Given the description of an element on the screen output the (x, y) to click on. 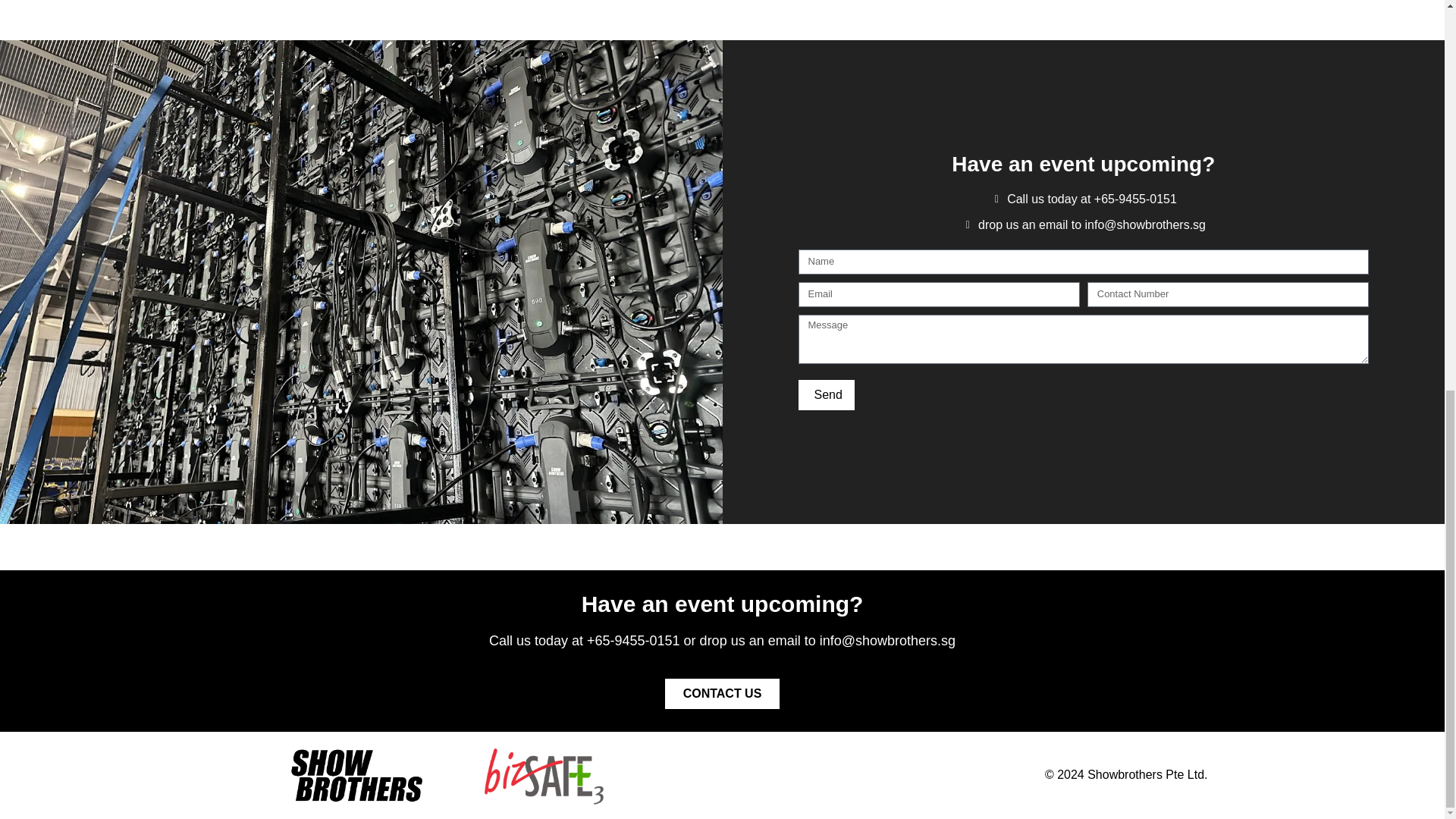
CONTACT US (722, 693)
Send (825, 395)
